Given the description of an element on the screen output the (x, y) to click on. 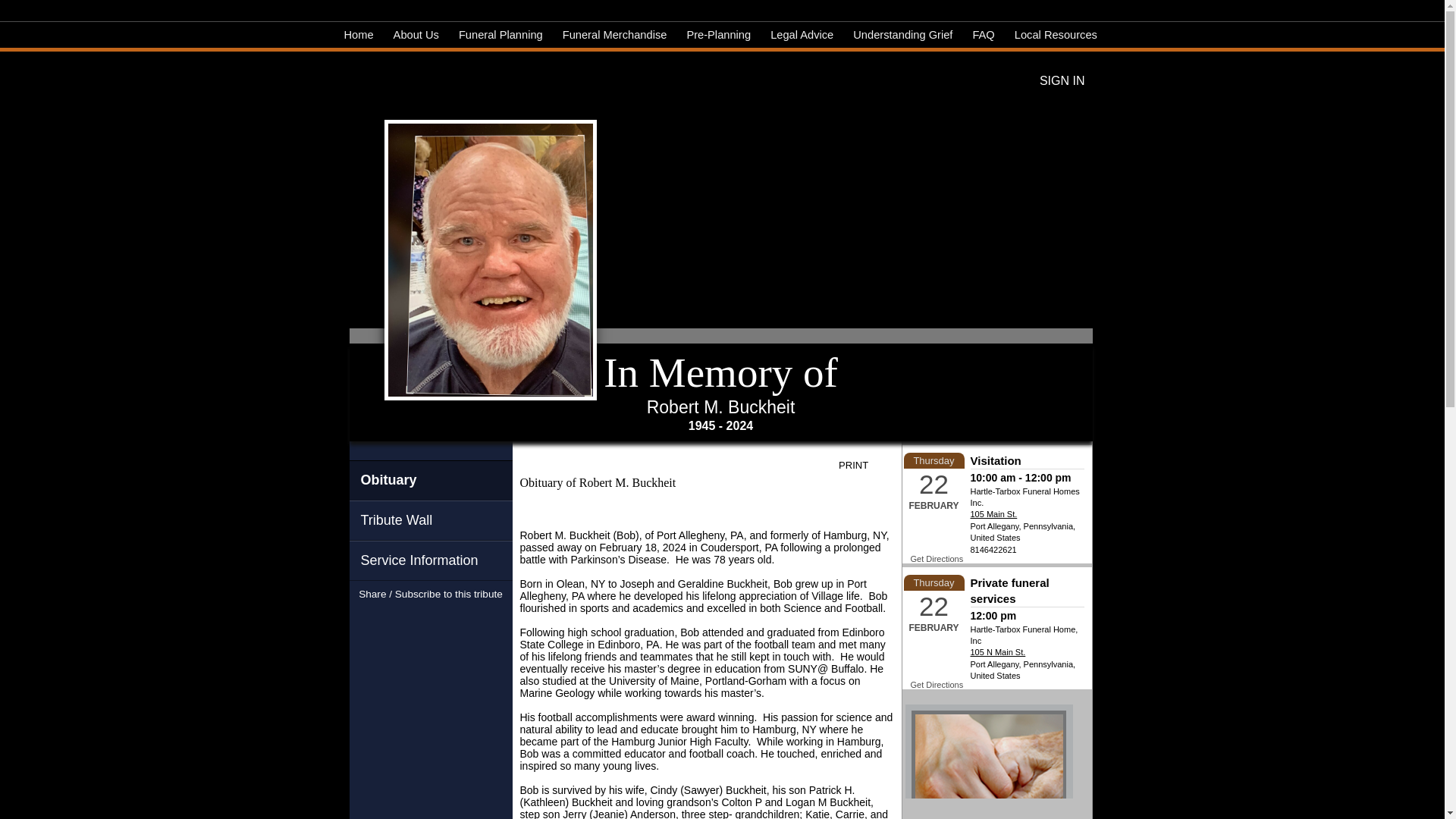
Get Directions (936, 558)
Service Information (430, 560)
Legal Advice (802, 34)
Receive Notifications (457, 619)
Obituary (430, 480)
Get Directions (936, 684)
PRINT (864, 465)
SIGN IN (1061, 80)
Home (358, 34)
Funeral Planning (500, 34)
Print (864, 465)
Facebook (402, 619)
Pre-Planning (718, 34)
Tribute Wall (430, 520)
Funeral Merchandise (614, 34)
